Given the description of an element on the screen output the (x, y) to click on. 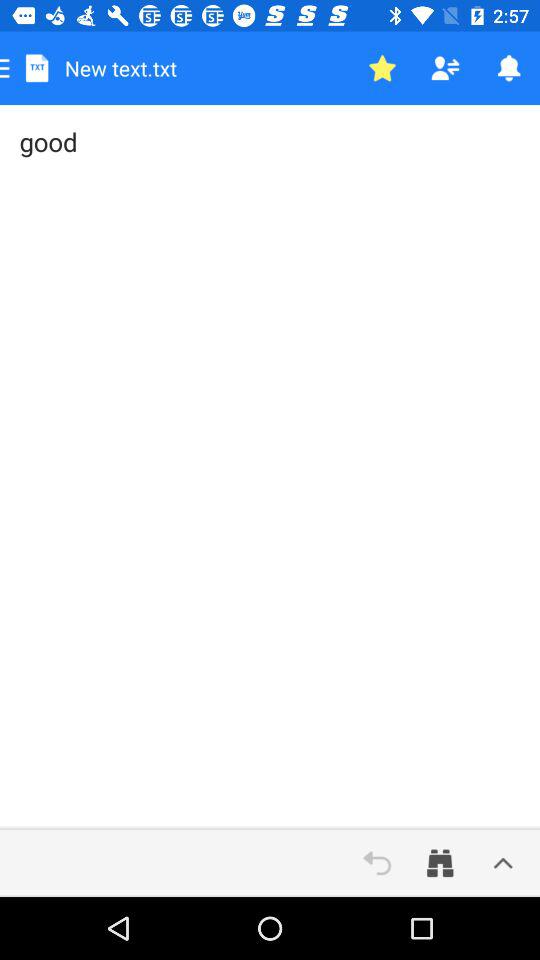
swipe to the good icon (270, 467)
